Given the description of an element on the screen output the (x, y) to click on. 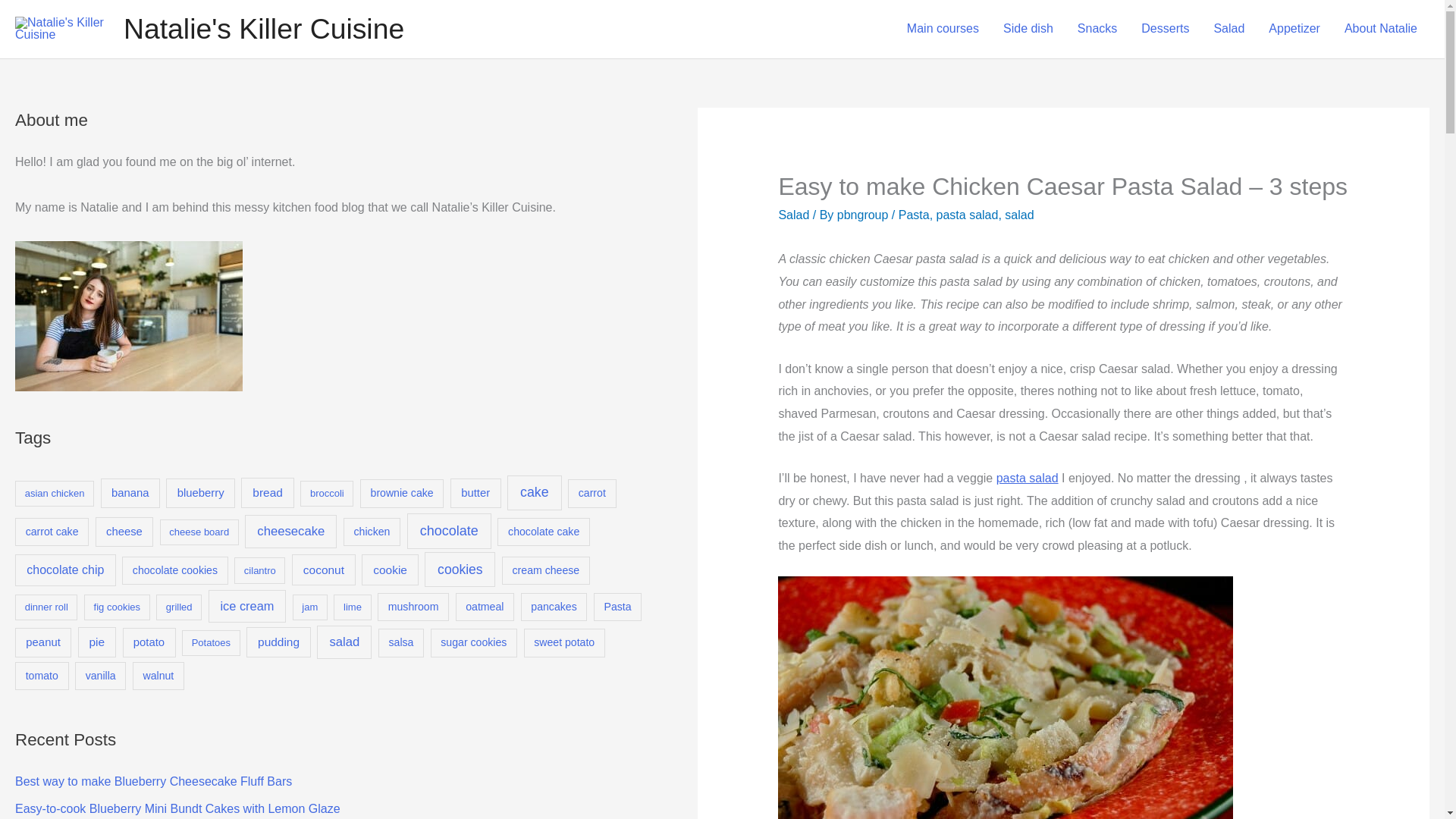
Desserts (1165, 28)
cream cheese (545, 570)
carrot cake (51, 531)
cake (534, 493)
butter (474, 492)
cheese (125, 531)
chicken (371, 531)
About Natalie (1380, 28)
chocolate chip (65, 570)
cilantro (259, 570)
Natalie's Killer Cuisine (263, 29)
Salad (1228, 28)
blueberry (199, 492)
Snacks (1097, 28)
ChickenPastaSalad1 (1005, 697)
